Given the description of an element on the screen output the (x, y) to click on. 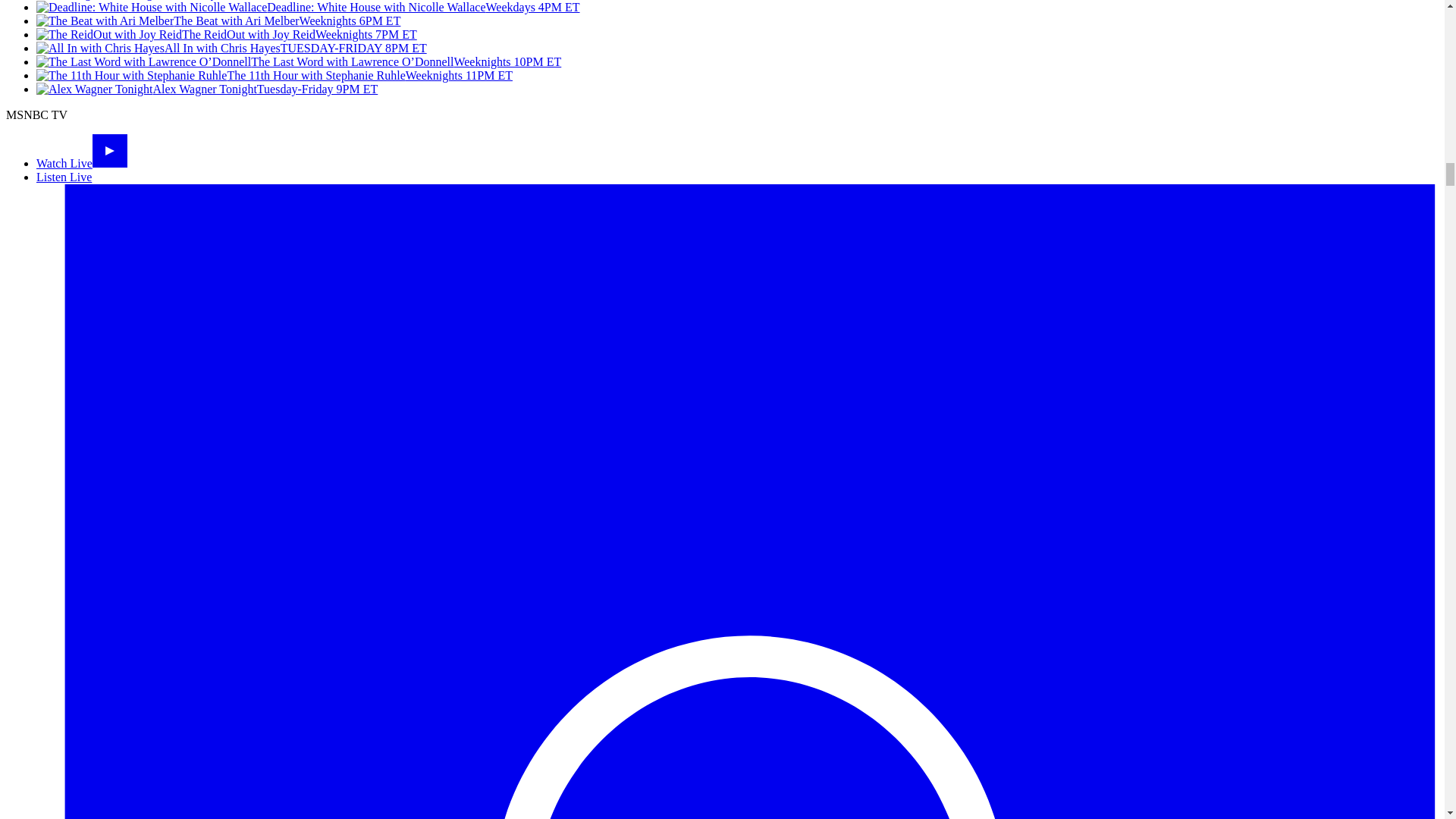
Watch Live (82, 163)
The ReidOut with Joy ReidWeeknights 7PM ET (226, 33)
Alex Wagner TonightTuesday-Friday 9PM ET (206, 88)
Deadline: White House with Nicolle WallaceWeekdays 4PM ET (307, 6)
The Beat with Ari MelberWeeknights 6PM ET (218, 20)
The 11th Hour with Stephanie RuhleWeeknights 11PM ET (274, 74)
All In with Chris HayesTUESDAY-FRIDAY 8PM ET (231, 47)
